Given the description of an element on the screen output the (x, y) to click on. 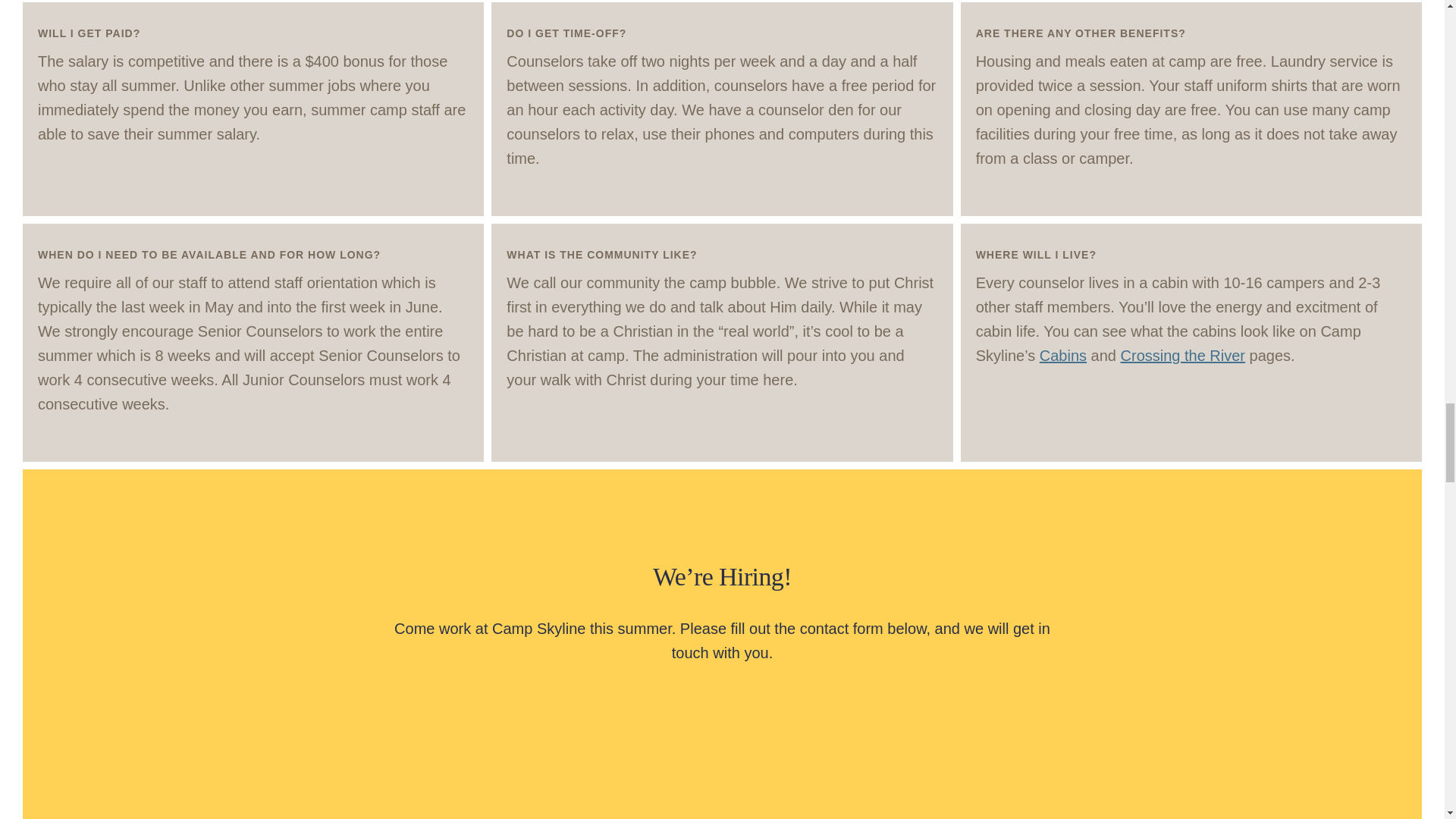
Cabins (1062, 355)
Crossing the River (1183, 355)
